Given the description of an element on the screen output the (x, y) to click on. 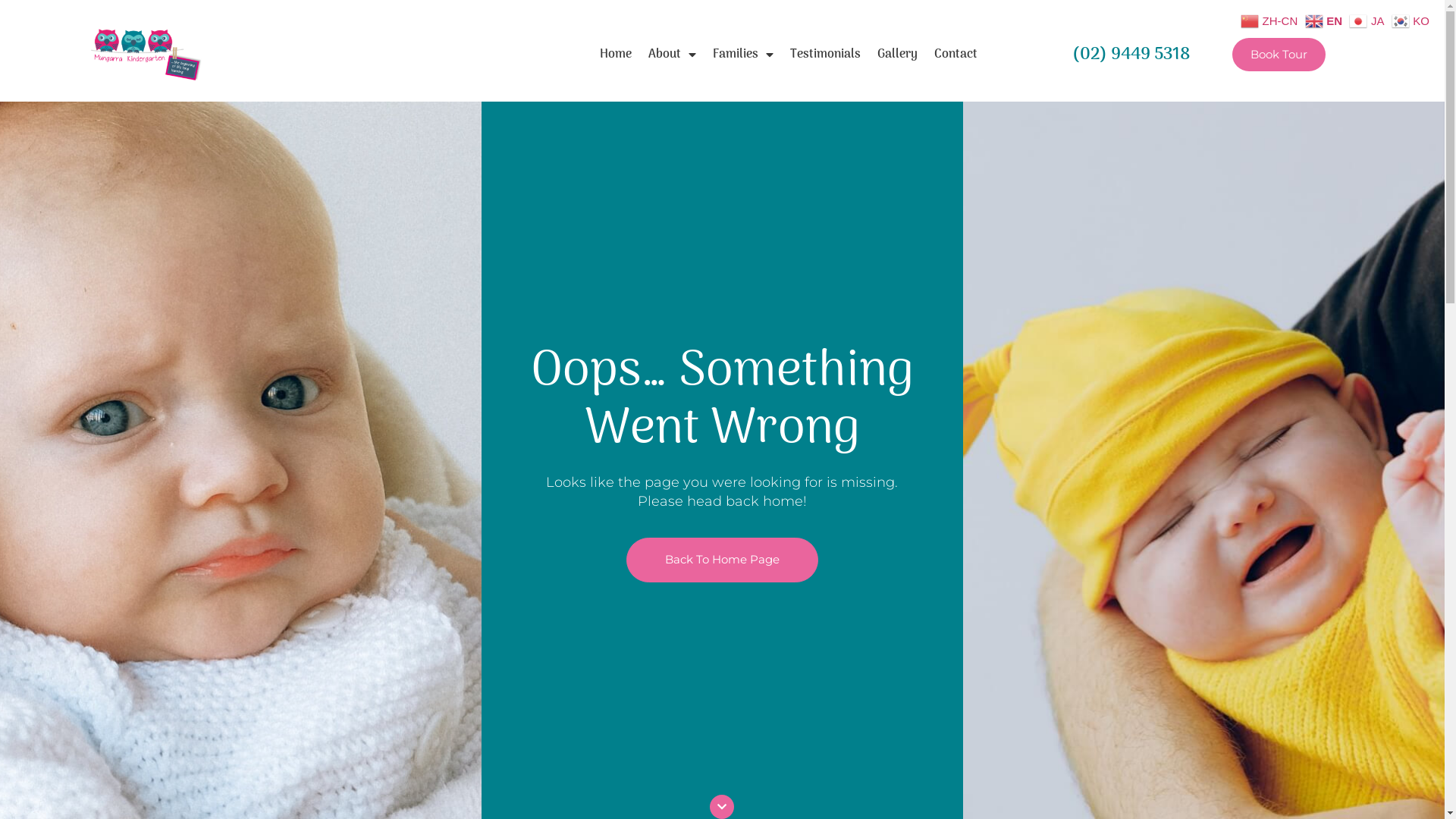
JA Element type: text (1368, 19)
About Element type: text (672, 54)
ZH-CN Element type: text (1270, 19)
Contact Element type: text (955, 54)
Home Element type: text (615, 54)
Gallery Element type: text (897, 54)
(02) 9449 5318 Element type: text (1130, 54)
Testimonials Element type: text (825, 54)
Families Element type: text (742, 54)
KO Element type: text (1412, 19)
EN Element type: text (1325, 19)
Book Tour Element type: text (1278, 54)
Back To Home Page Element type: text (722, 559)
